Given the description of an element on the screen output the (x, y) to click on. 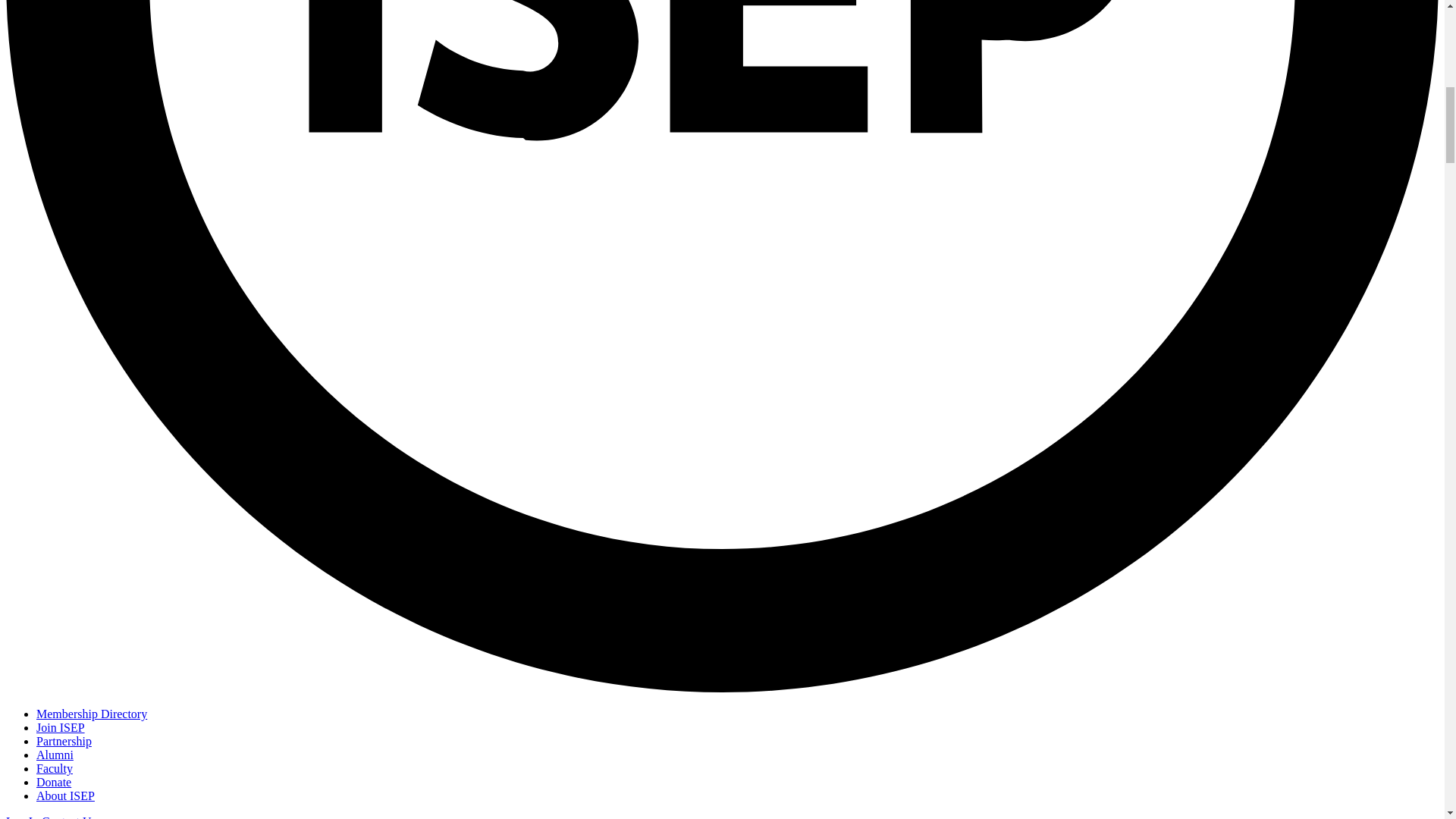
Join ISEP (60, 727)
Donate (53, 781)
About ISEP (65, 795)
Contact Us (69, 816)
Membership Directory (91, 713)
Alumni (55, 754)
Log In (23, 816)
Partnership (63, 740)
Faculty (54, 768)
